Given the description of an element on the screen output the (x, y) to click on. 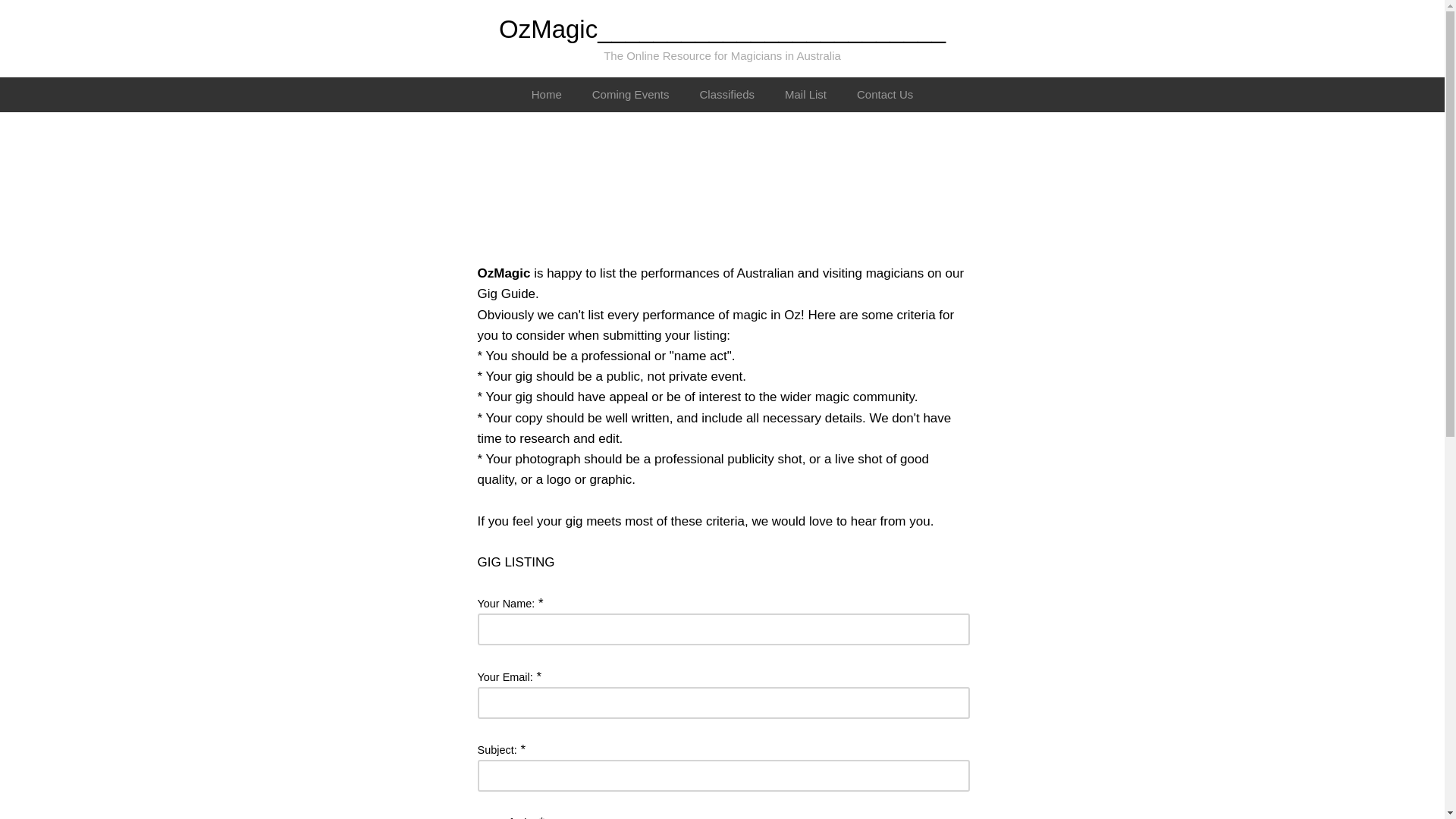
Contact Us (884, 94)
